Given the description of an element on the screen output the (x, y) to click on. 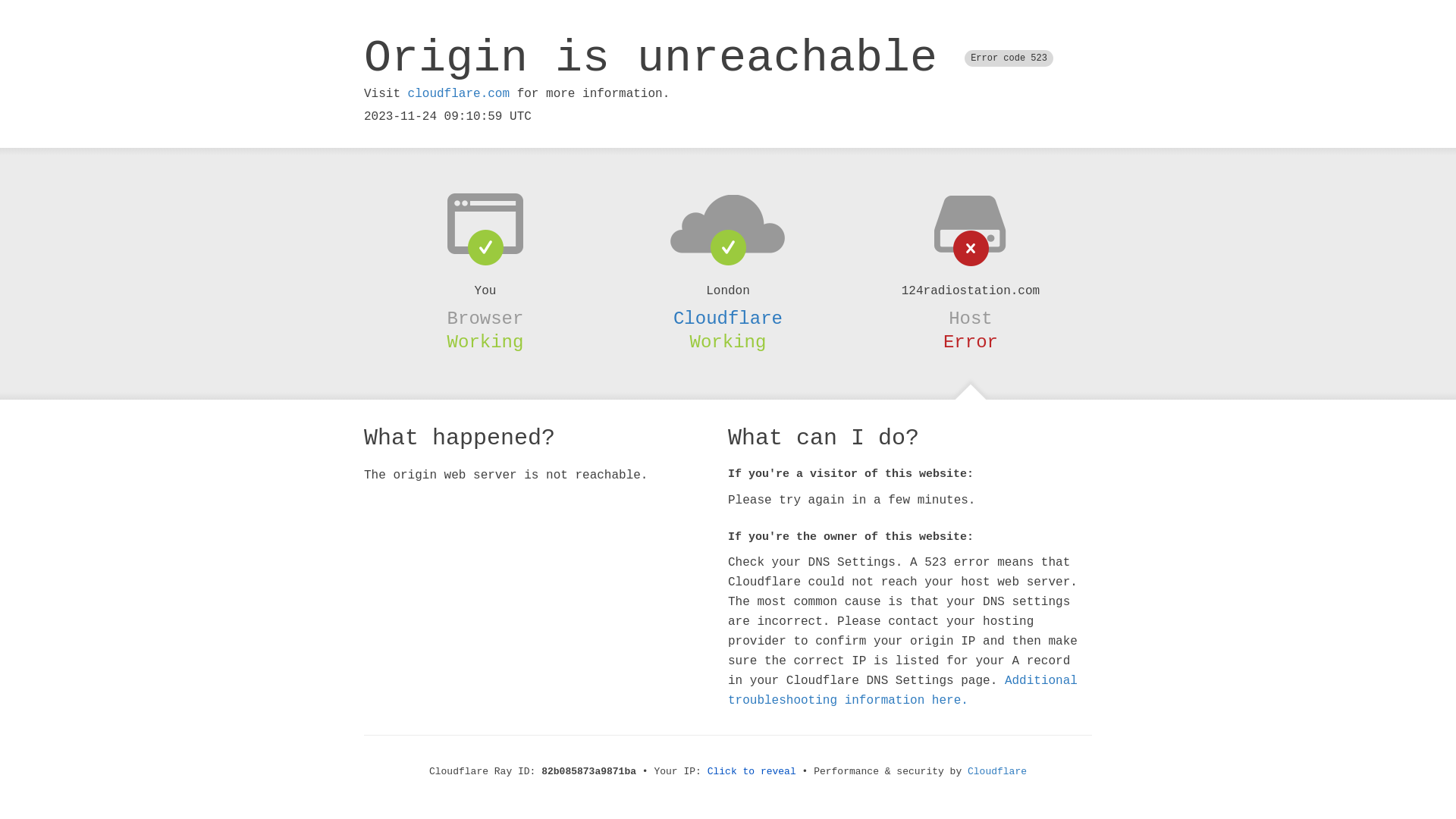
Cloudflare Element type: text (727, 318)
cloudflare.com Element type: text (458, 93)
Cloudflare Element type: text (996, 771)
Click to reveal Element type: text (751, 771)
Additional troubleshooting information here. Element type: text (902, 690)
